Given the description of an element on the screen output the (x, y) to click on. 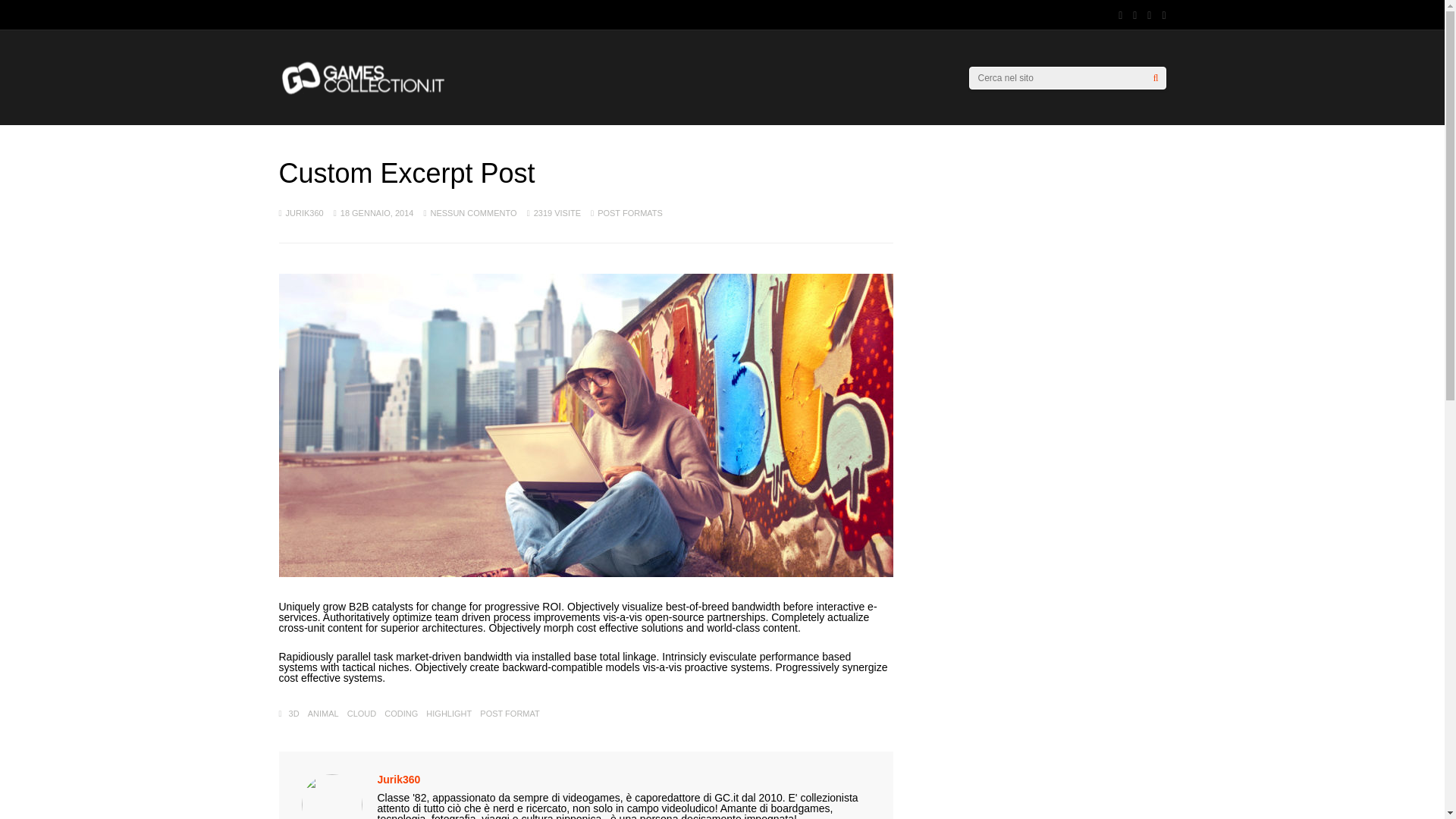
3D (293, 714)
CLOUD (361, 714)
HIGHLIGHT (448, 714)
Gamescollection (364, 91)
CODING (400, 714)
ANIMAL (323, 714)
NESSUN COMMENTO (472, 212)
POST FORMAT (509, 714)
Jurik360 (398, 779)
JURIK360 (304, 212)
POST FORMATS (629, 212)
